Given the description of an element on the screen output the (x, y) to click on. 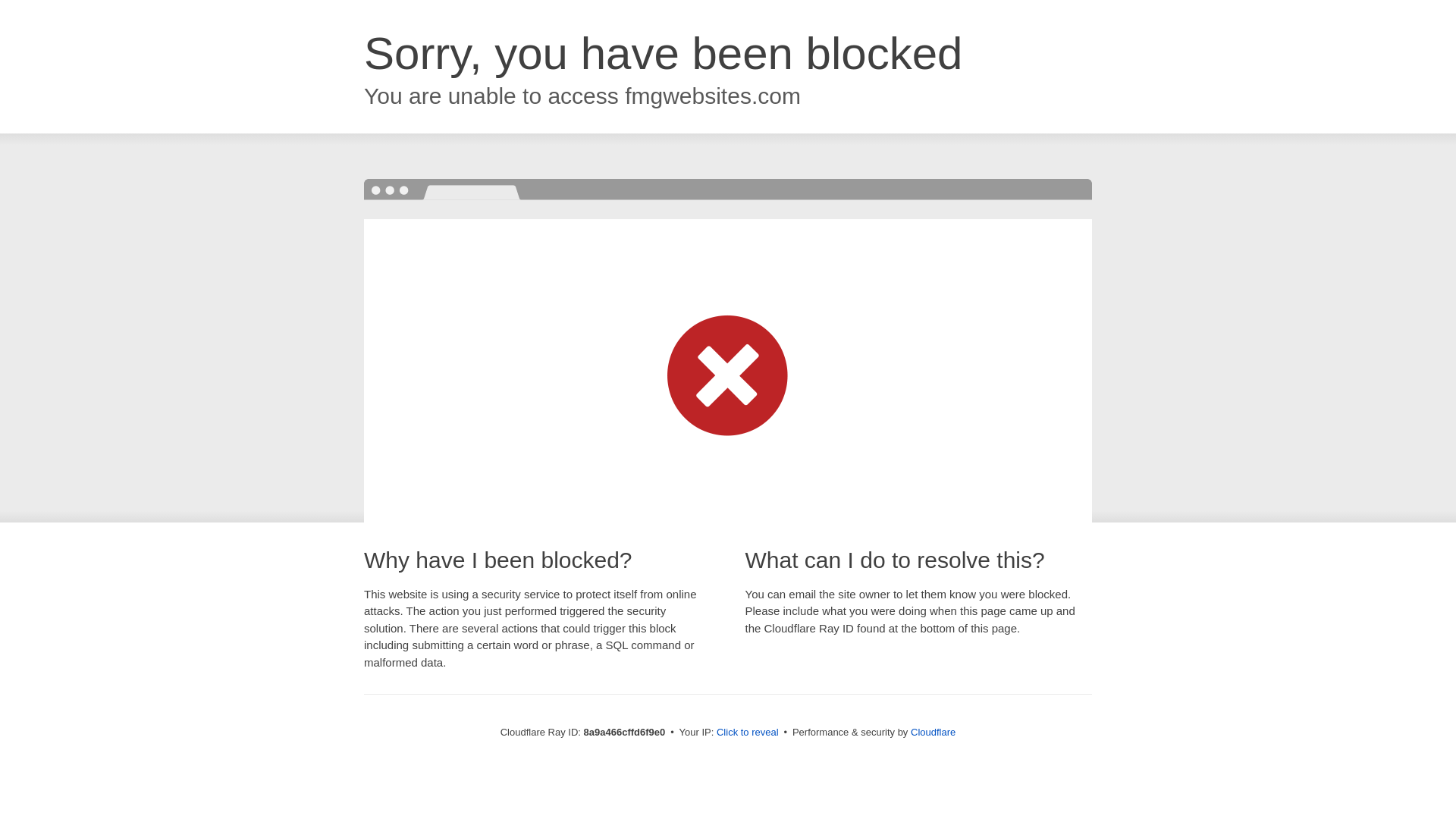
Click to reveal (747, 732)
Cloudflare (933, 731)
